Given the description of an element on the screen output the (x, y) to click on. 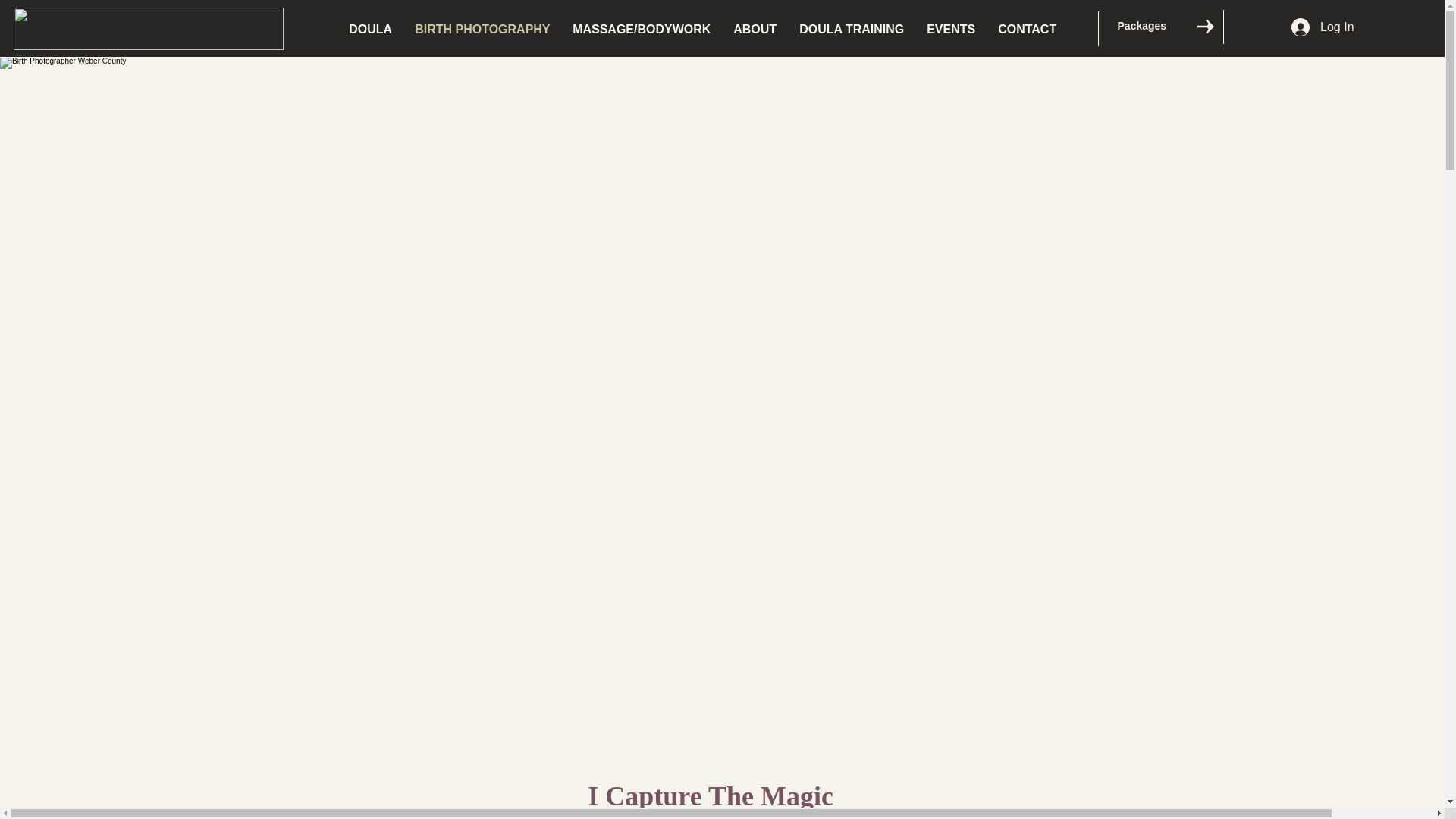
Log In (1322, 26)
CONTACT (1027, 29)
DOULA TRAINING (851, 29)
ABOUT (754, 29)
EVENTS (951, 29)
Packages (1161, 25)
BIRTH PHOTOGRAPHY (481, 29)
